Given the description of an element on the screen output the (x, y) to click on. 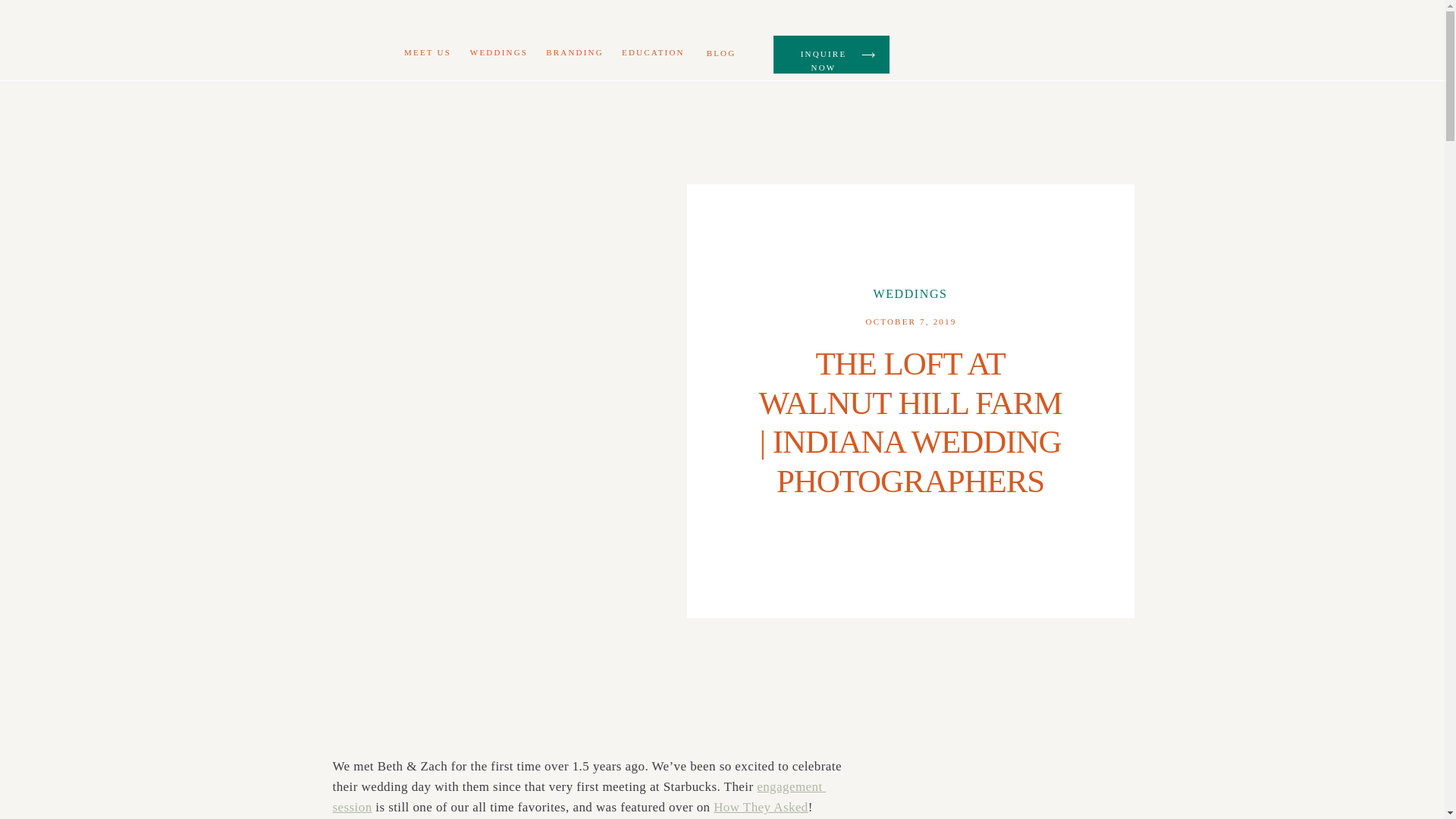
EDUCATION (651, 54)
MEET US (427, 54)
BLOG (720, 55)
WEDDINGS (498, 54)
INQUIRE NOW (823, 54)
BRANDING (574, 54)
WEDDINGS (909, 293)
